Given the description of an element on the screen output the (x, y) to click on. 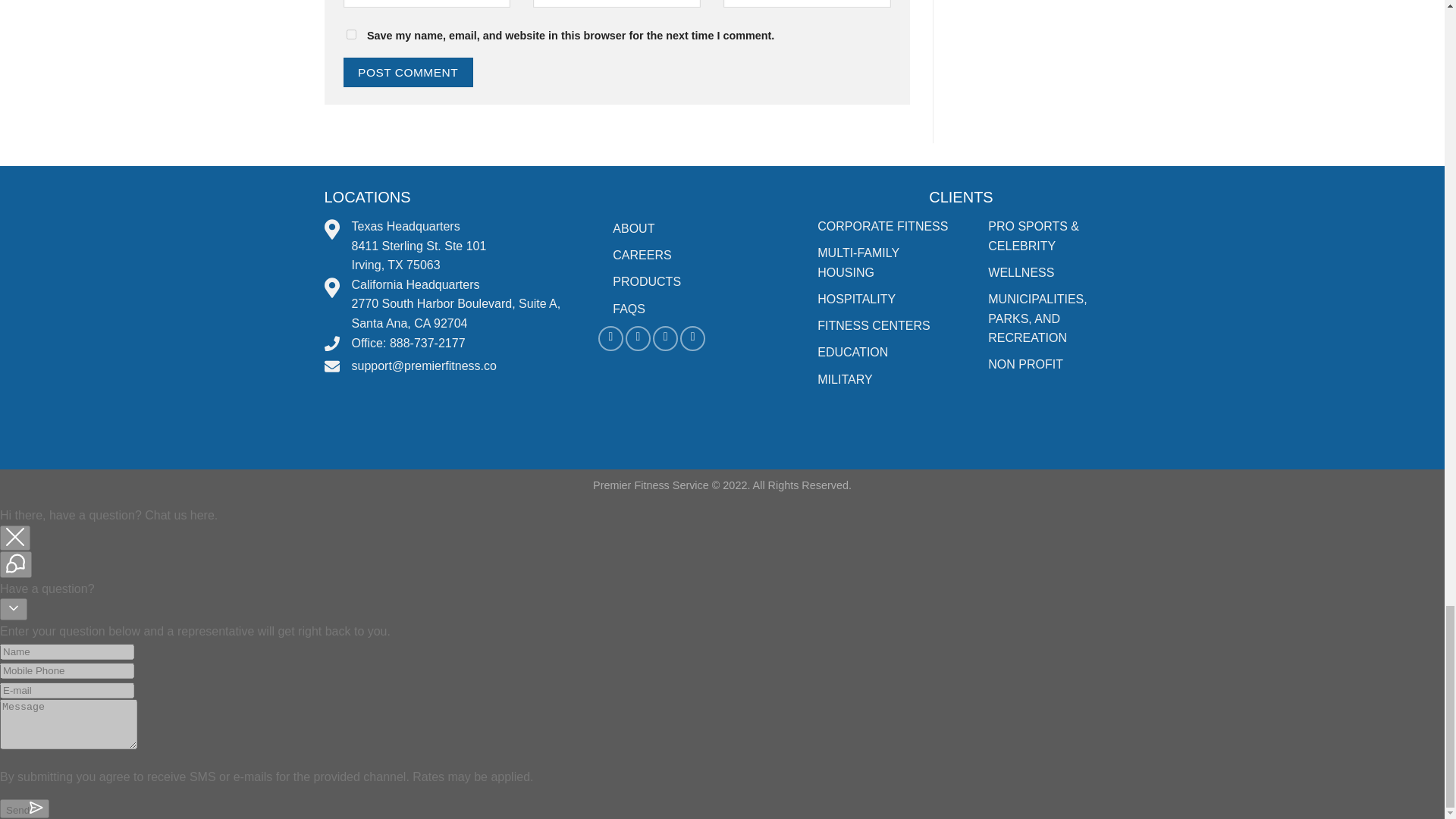
Post Comment (406, 71)
Follow on Instagram (638, 338)
Follow on Facebook (610, 338)
yes (350, 34)
